Given the description of an element on the screen output the (x, y) to click on. 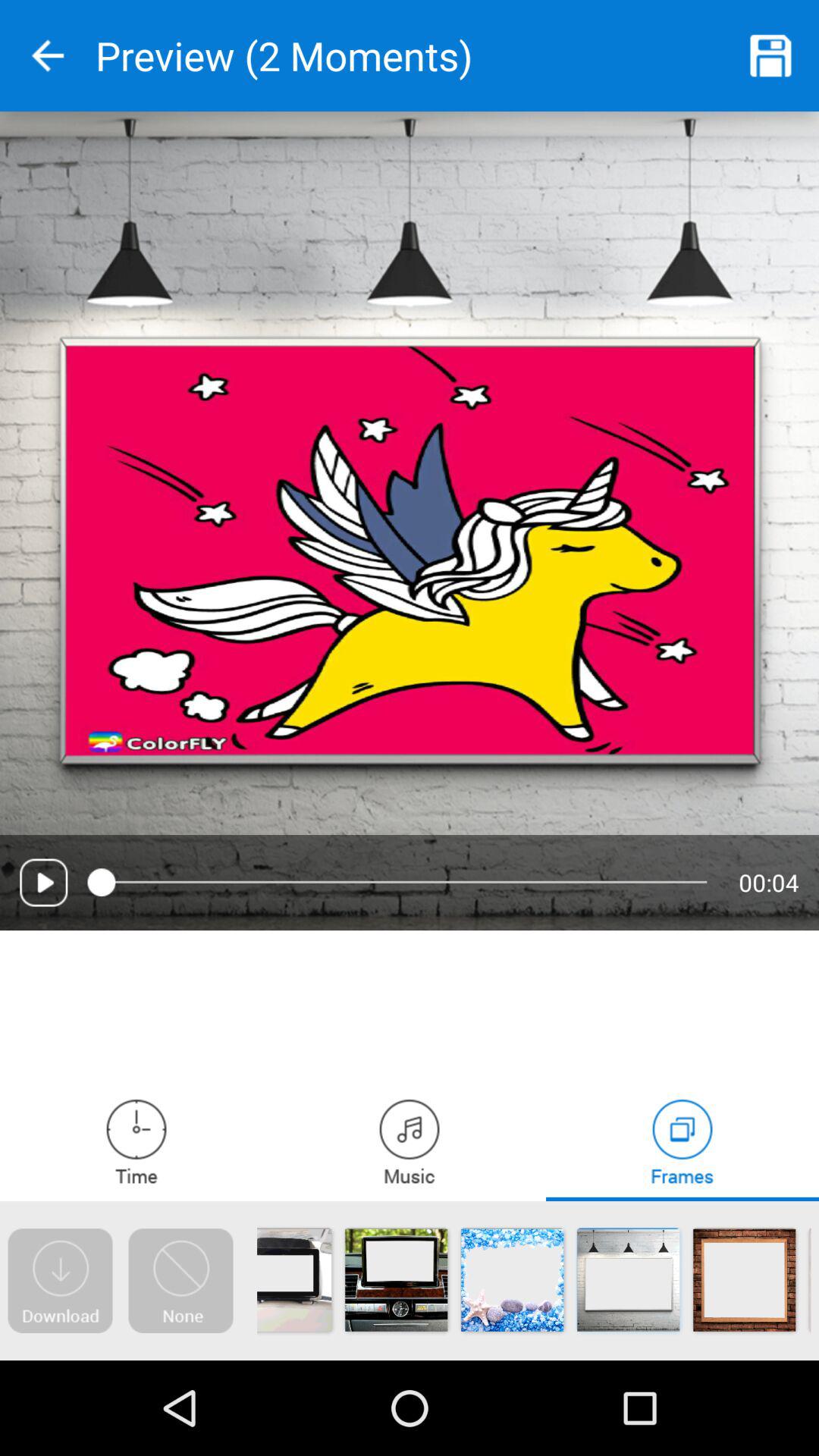
turn off icon on the left (43, 882)
